Given the description of an element on the screen output the (x, y) to click on. 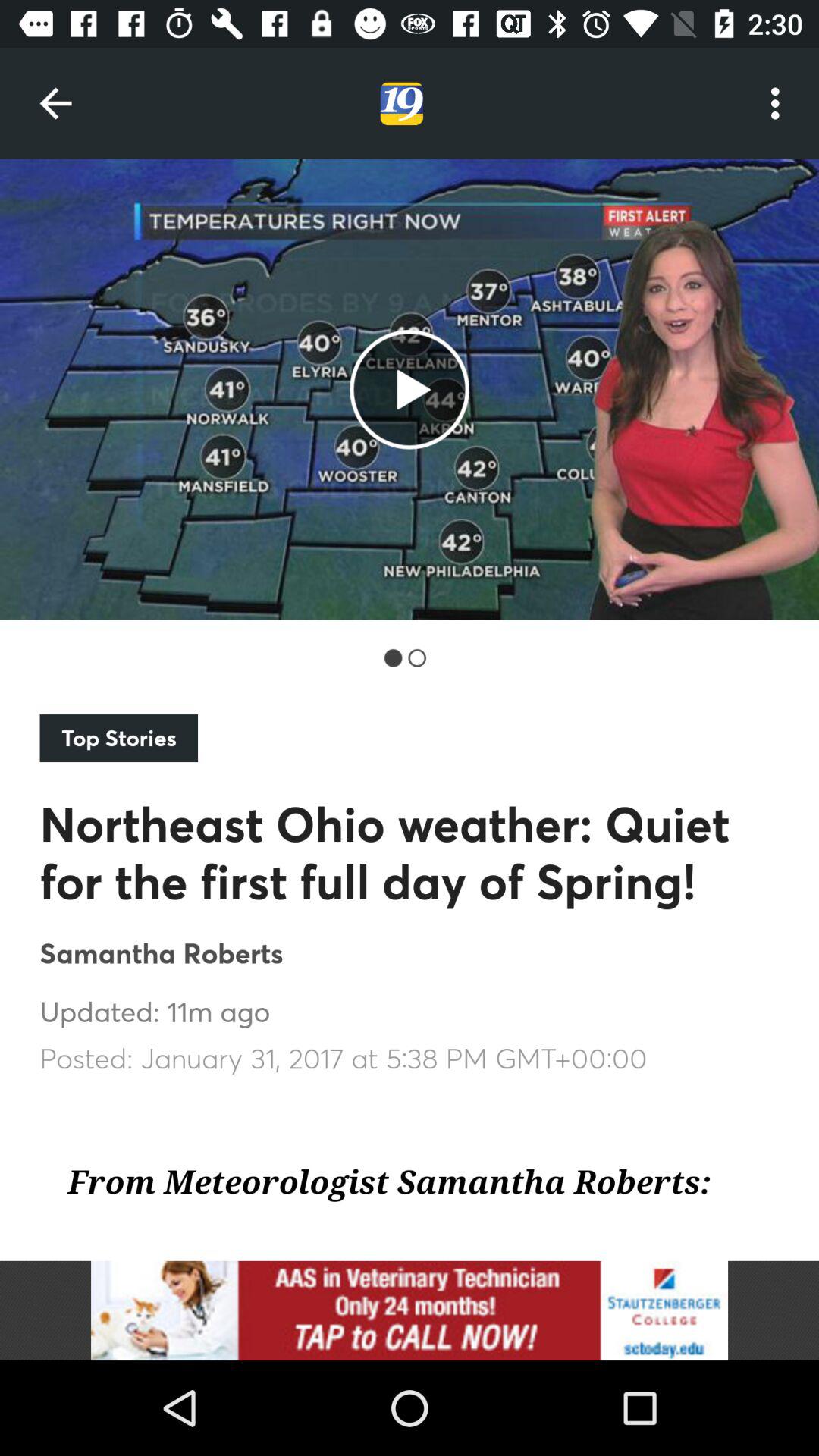
go to the advertisement (409, 1310)
